Given the description of an element on the screen output the (x, y) to click on. 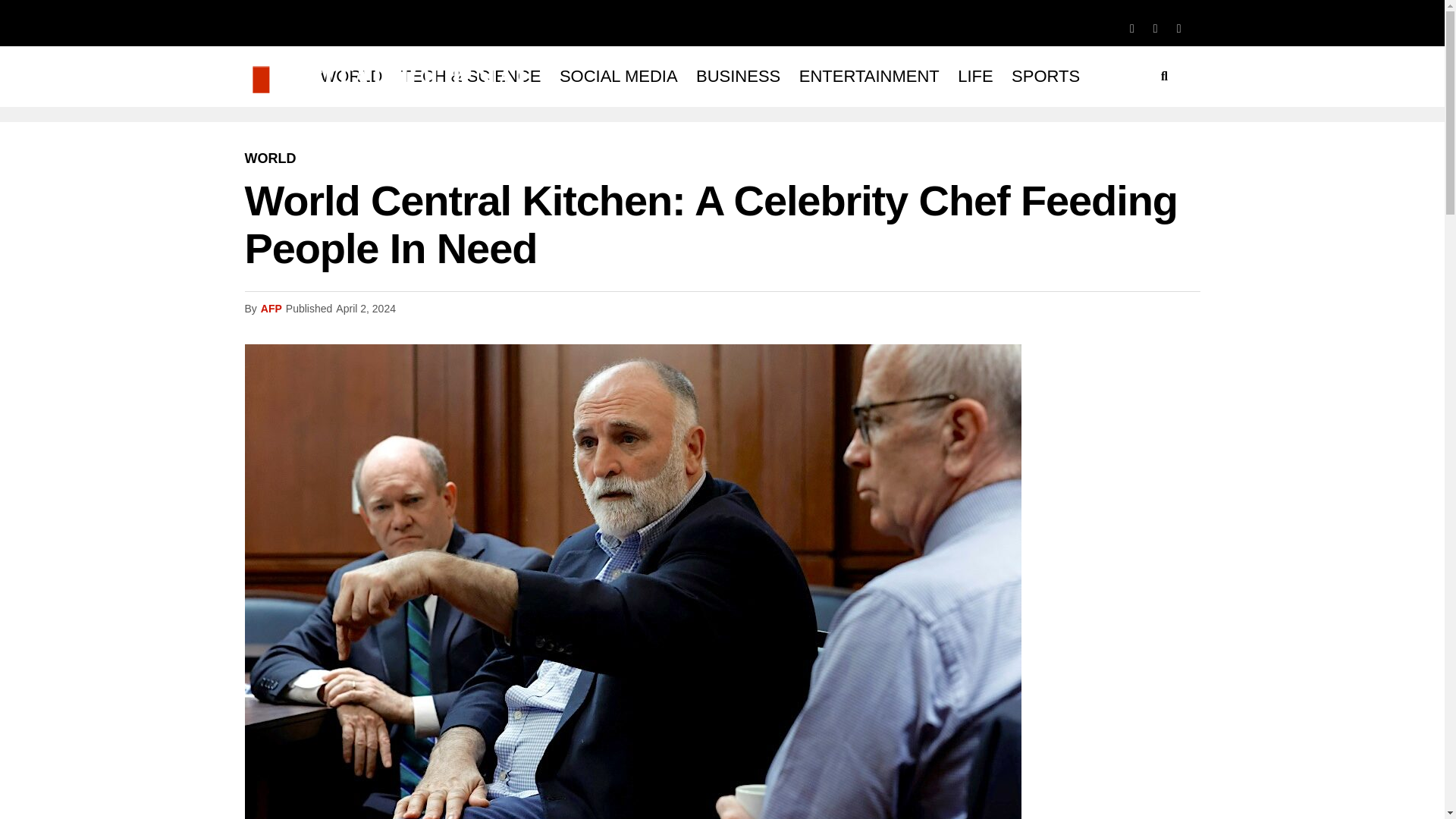
WORLD (351, 76)
SOCIAL MEDIA (618, 76)
Posts by AFP (271, 308)
BUSINESS (737, 76)
WORLD (269, 158)
SPORTS (1045, 76)
ENTERTAINMENT (869, 76)
AFP (271, 308)
